Given the description of an element on the screen output the (x, y) to click on. 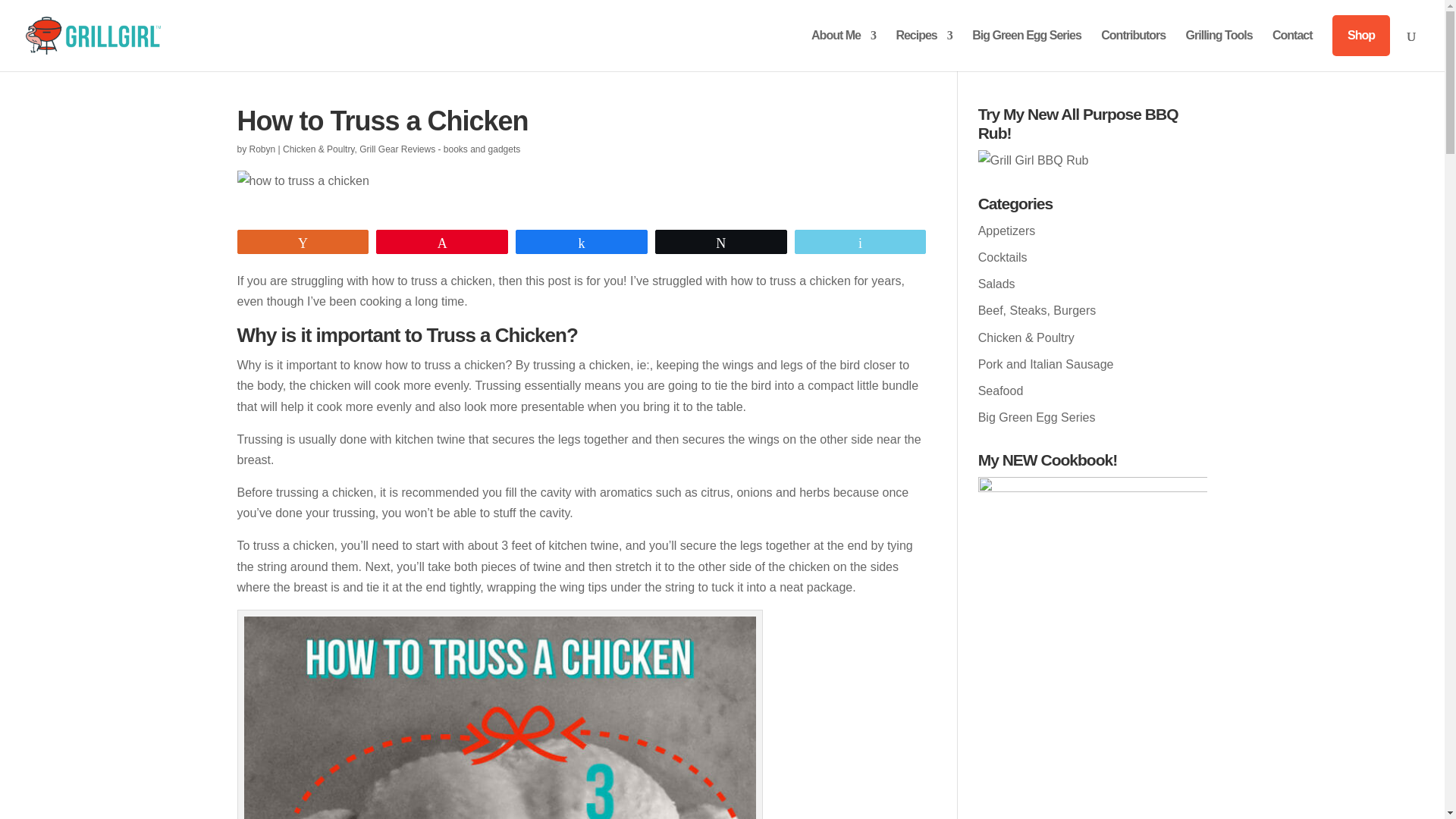
About Me (843, 50)
Posts by Robyn (262, 149)
Recipes (923, 50)
